Given the description of an element on the screen output the (x, y) to click on. 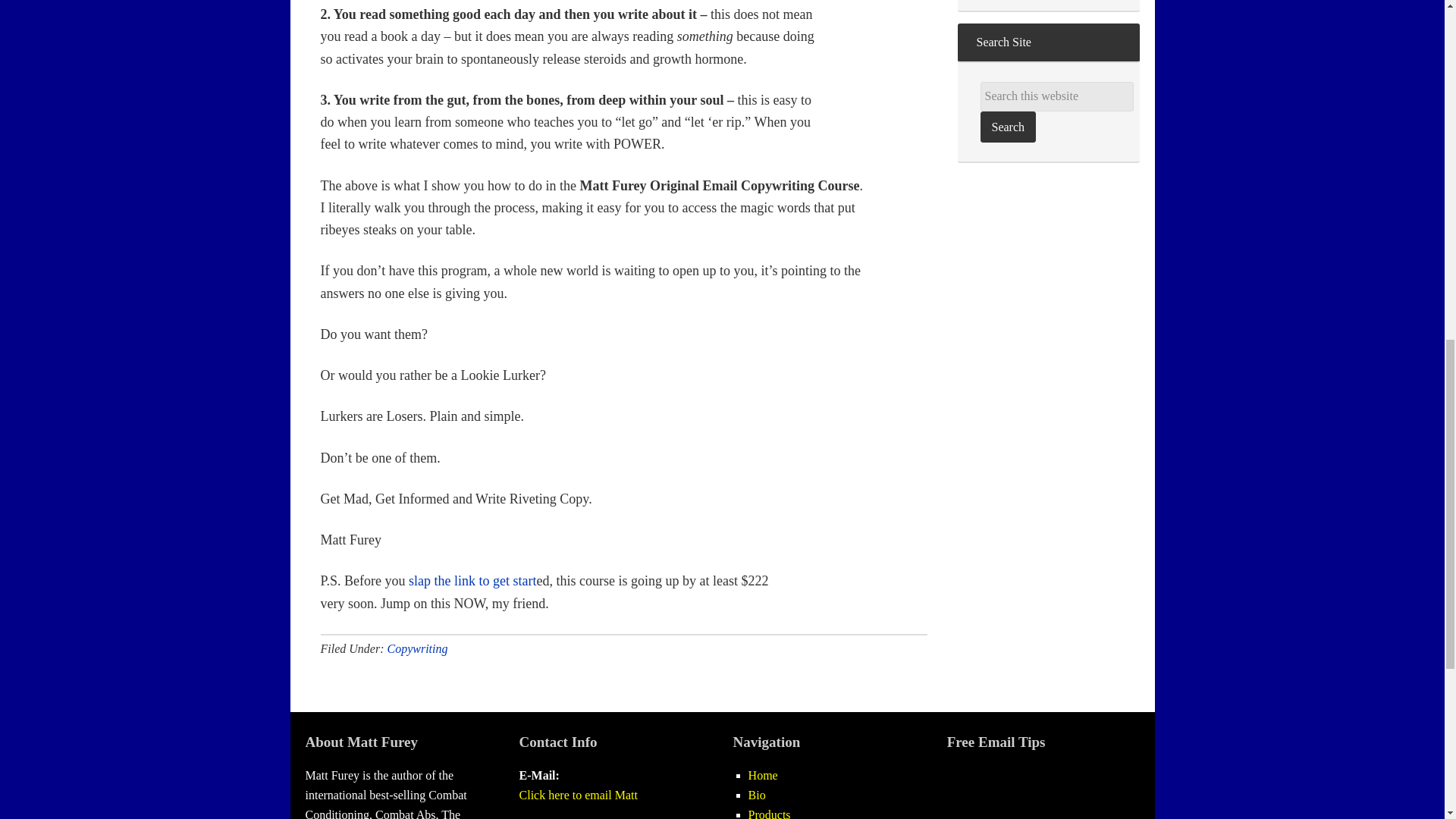
Search (1007, 126)
Click here to email Matt (578, 794)
Home (762, 775)
Bio (756, 794)
Search (1007, 126)
Products (769, 813)
Copywriting (416, 648)
slap the link to get start (472, 580)
Search (1007, 126)
